Given the description of an element on the screen output the (x, y) to click on. 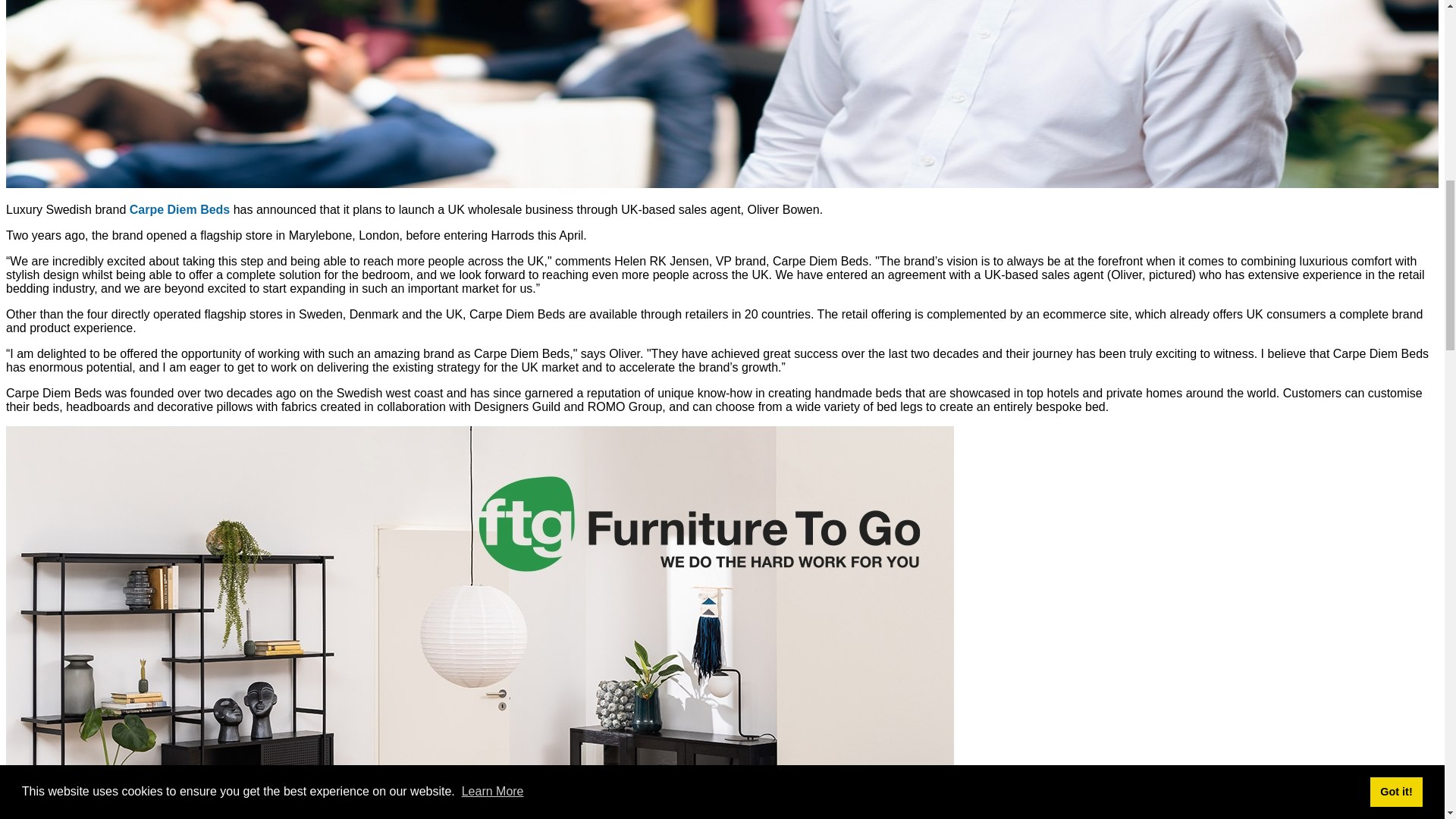
Carpe Diem Beds (179, 209)
